Given the description of an element on the screen output the (x, y) to click on. 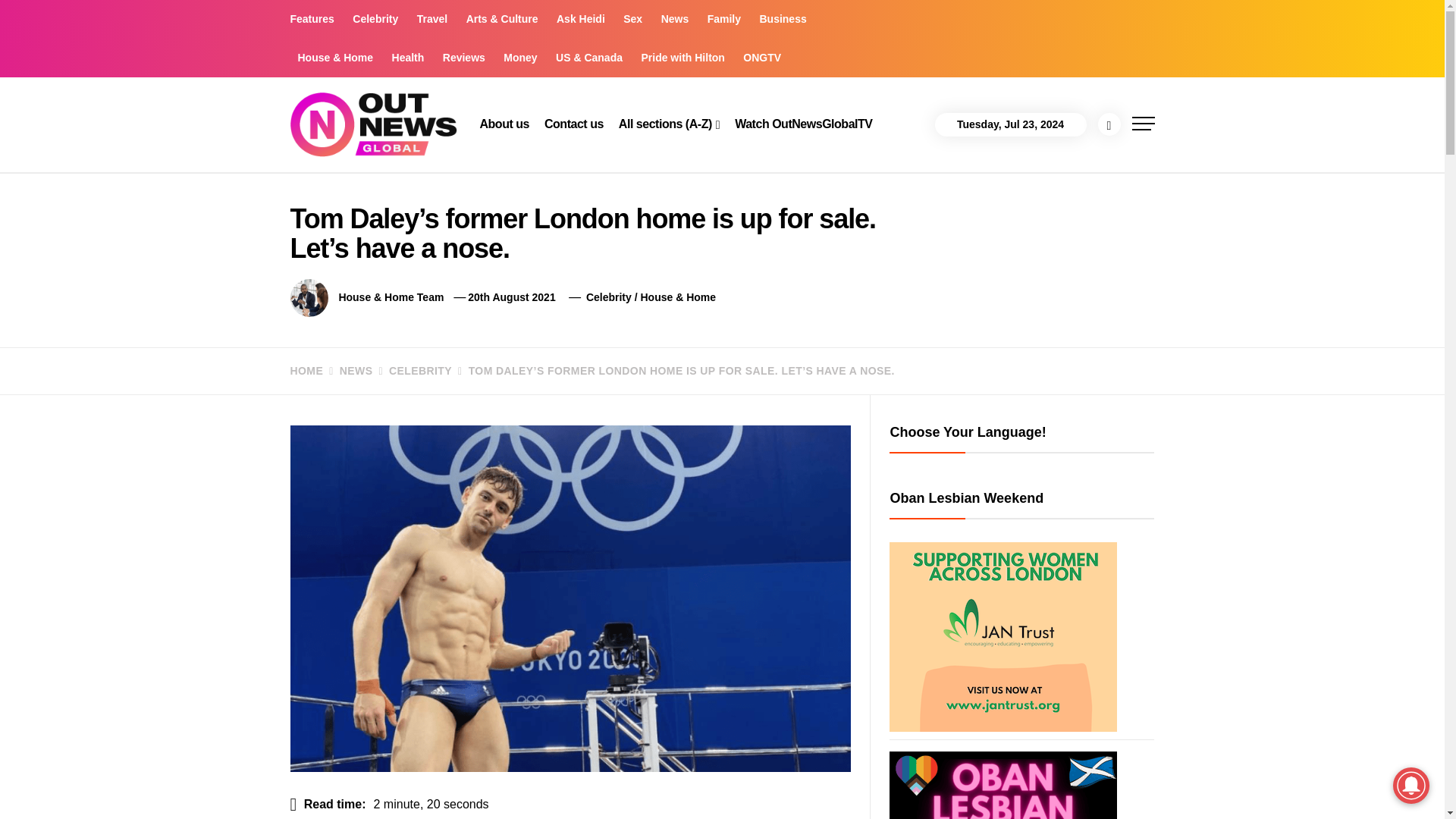
Money (520, 57)
ONGTV (762, 57)
Business (782, 19)
Reviews (464, 57)
About us (503, 124)
Contact us (574, 124)
Celebrity (375, 19)
Features (314, 19)
Family (724, 19)
Health (408, 57)
Pride with Hilton (682, 57)
Travel (431, 19)
News (675, 19)
Ask Heidi (580, 19)
